Given the description of an element on the screen output the (x, y) to click on. 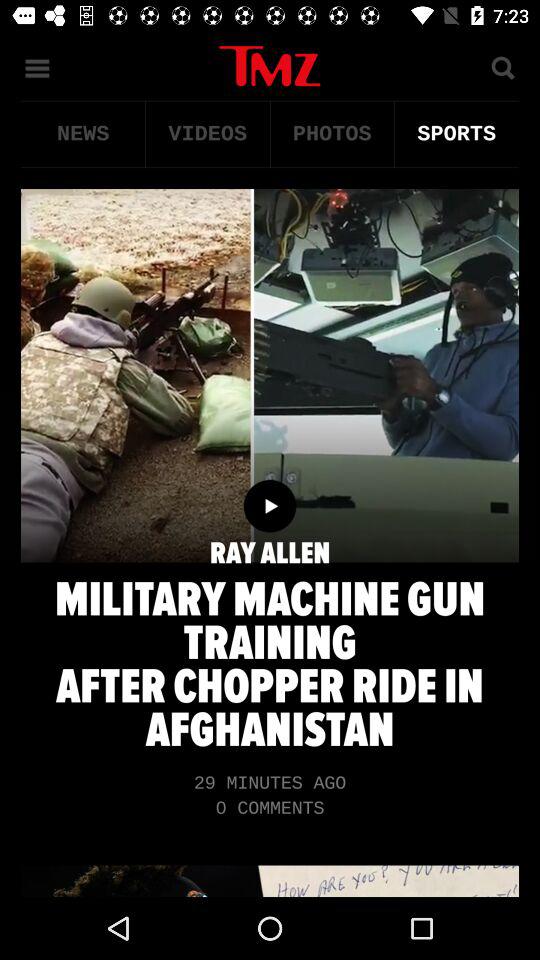
open the sports item (456, 133)
